Given the description of an element on the screen output the (x, y) to click on. 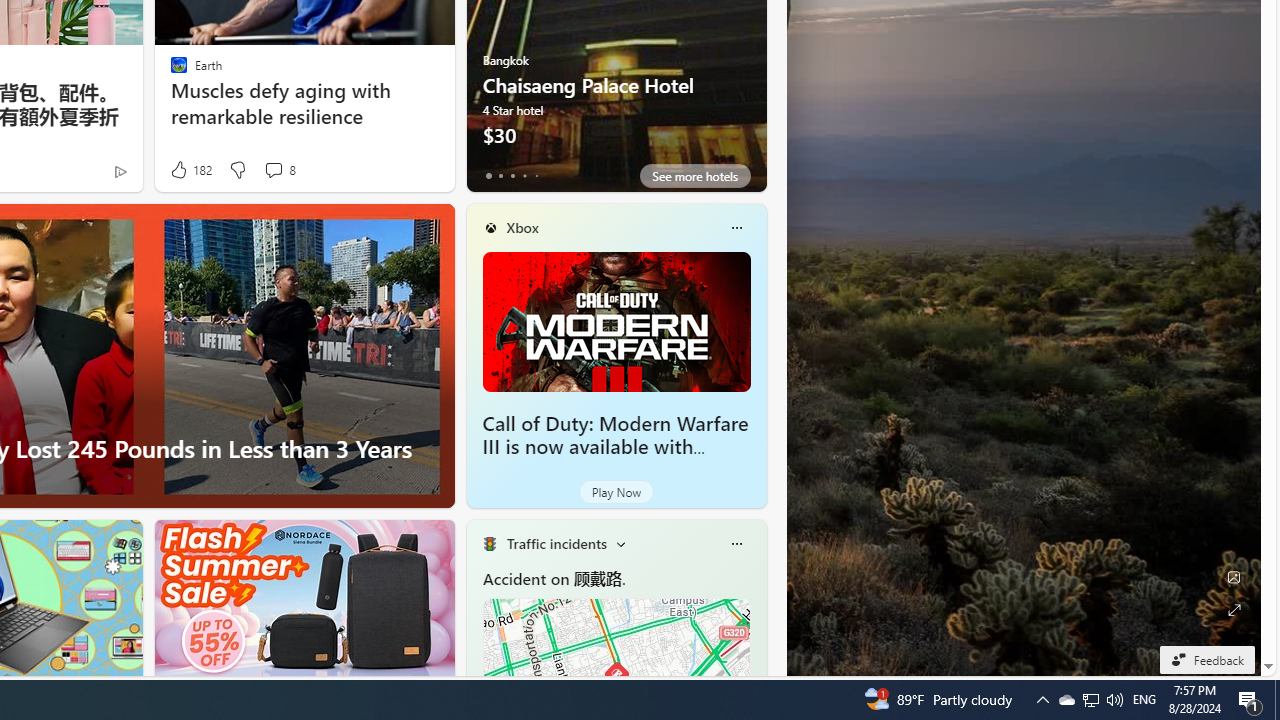
Expand background (1233, 610)
tab-0 (488, 175)
See more hotels (694, 175)
tab-3 (524, 175)
Play Now (616, 491)
tab-4 (535, 175)
Edit Background (1233, 577)
Change scenarios (620, 543)
tab-2 (511, 175)
Traffic Title Traffic Light (489, 543)
Xbox (521, 227)
